Given the description of an element on the screen output the (x, y) to click on. 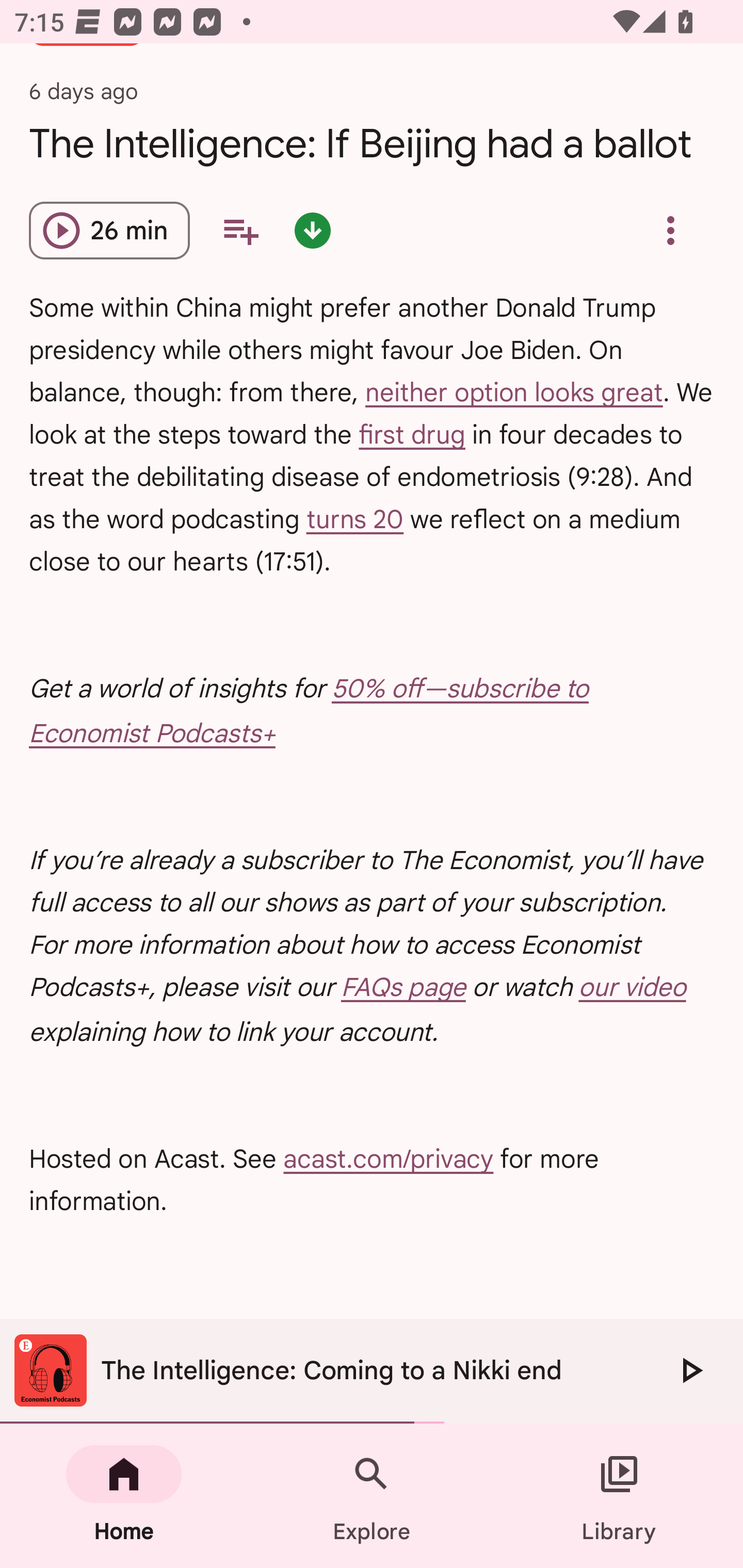
Add to your queue (240, 230)
Episode downloaded - double tap for options (312, 230)
Overflow menu (670, 230)
Play (690, 1370)
Explore (371, 1495)
Library (619, 1495)
